Given the description of an element on the screen output the (x, y) to click on. 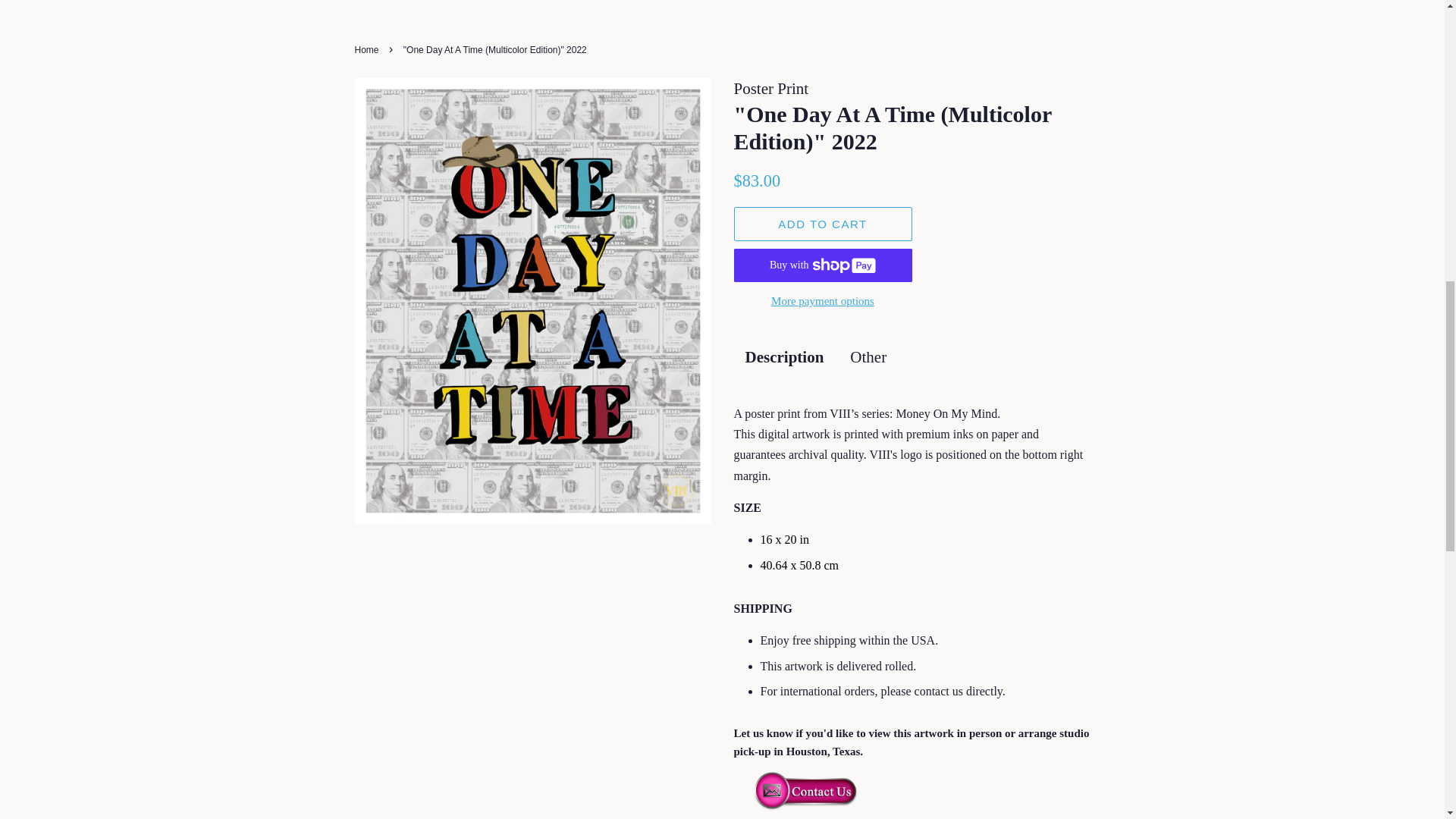
CONTACT (1011, 3)
ABOUT VIII (920, 3)
ART COLLECTION (529, 3)
ARCHIVAL PRINTS (795, 3)
Home (368, 50)
HOME (422, 3)
ART BLOGS (665, 3)
Back to the frontpage (368, 50)
